Given the description of an element on the screen output the (x, y) to click on. 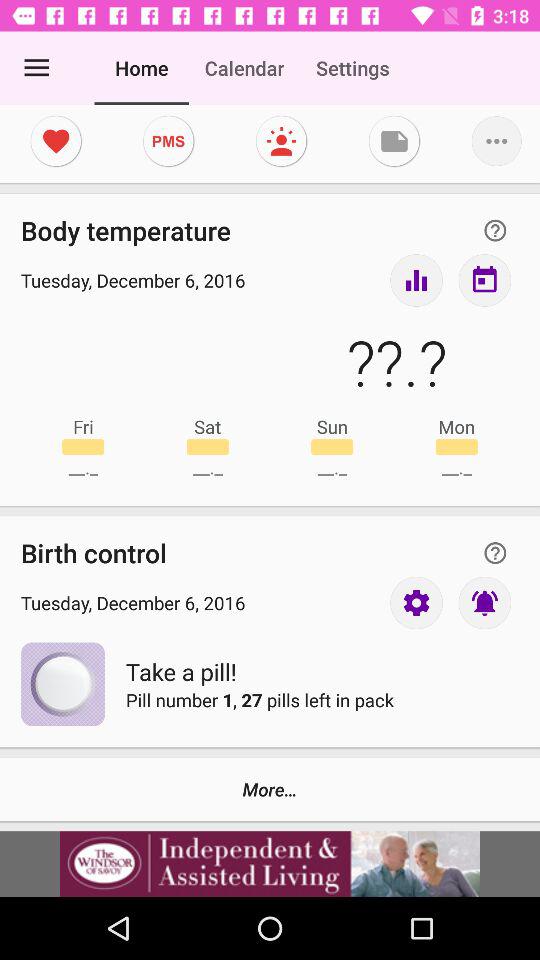
toggle new page (394, 141)
